Given the description of an element on the screen output the (x, y) to click on. 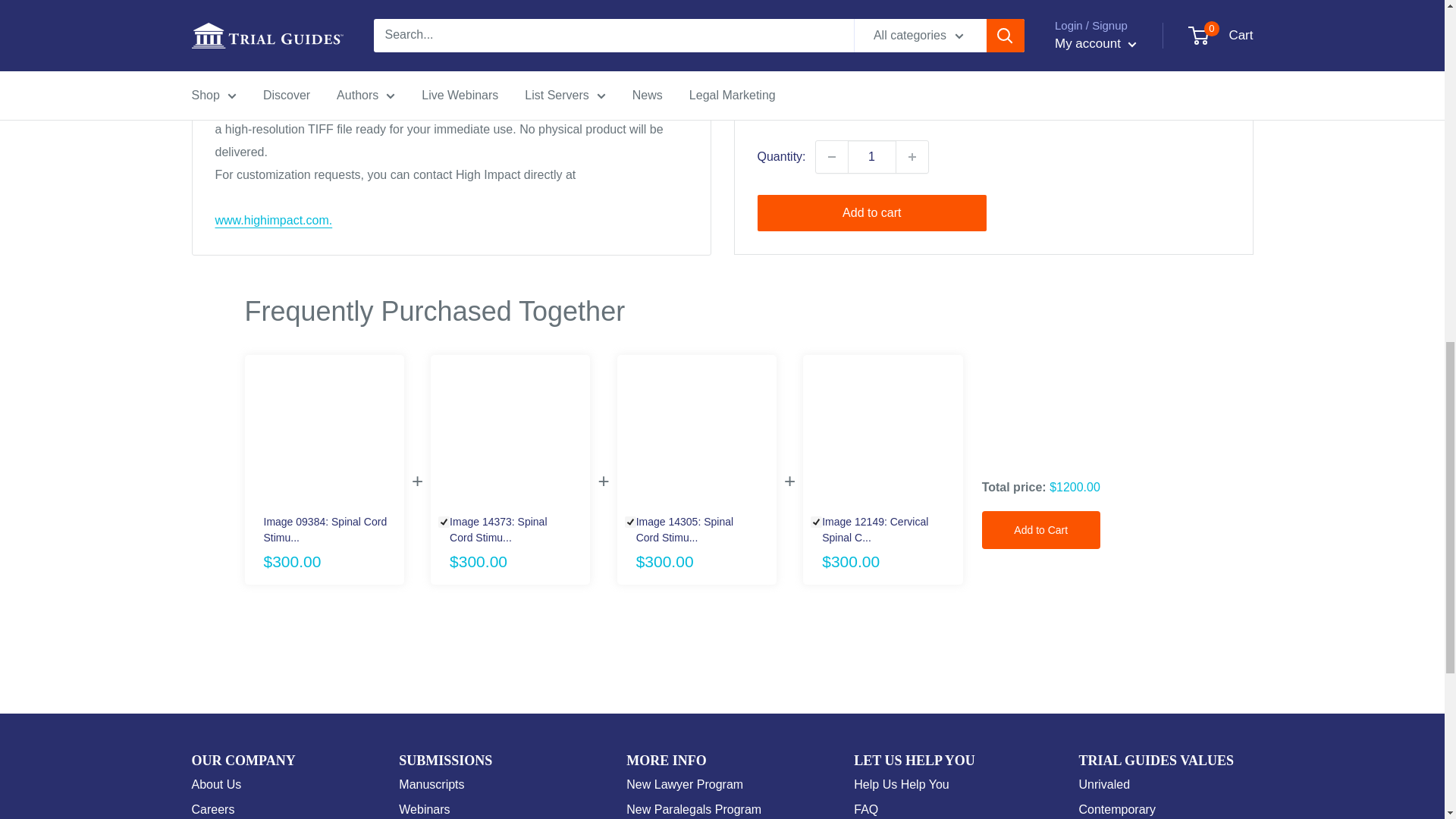
Image 09384: Spinal Cord Stimulator Illustration (323, 434)
Image 09384: Spinal Cord Stimulator Illustration (329, 530)
Image 14373: Spinal Cord Stimulator Illustration (510, 434)
Image 14373: Spinal Cord Stimulator Illustration (506, 530)
Image 14305: Spinal Cord Stimulator Illustration (696, 434)
Image 14305: Spinal Cord Stimulator Illustration (693, 530)
